Given the description of an element on the screen output the (x, y) to click on. 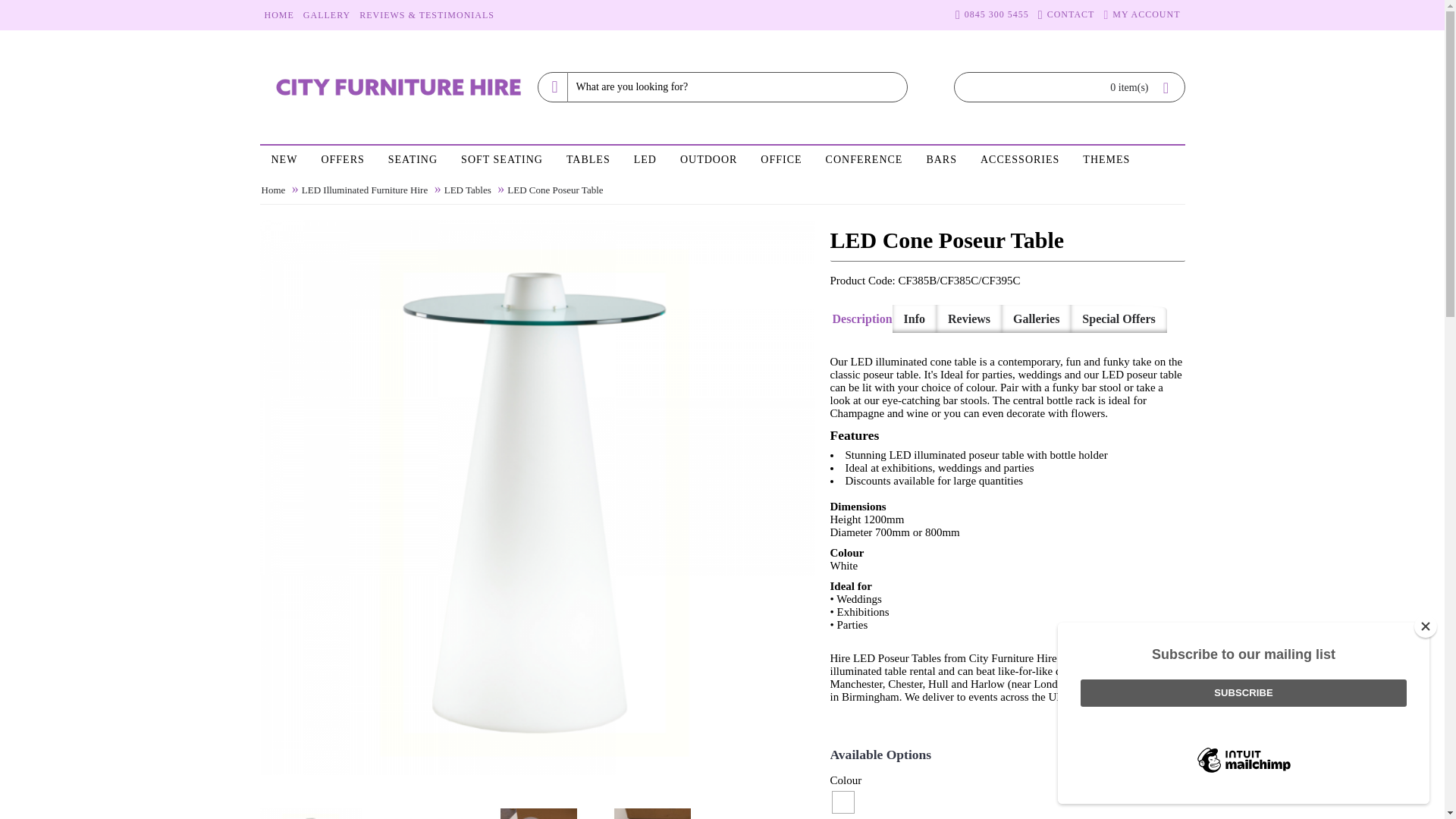
0845 300 5455 (991, 15)
City Furniture Hire (398, 87)
LED Cone Poseur Table (425, 813)
LED Cone Poseur Table (310, 813)
TABLES (587, 160)
LED Cone Poseur Table (652, 813)
LED Cone Poseur Table (657, 807)
MY ACCOUNT (1142, 15)
CONTACT (1066, 15)
GALLERY (326, 15)
NEW (283, 160)
LED Cone Poseur Table (771, 807)
SEATING (412, 160)
SOFT SEATING (501, 160)
